Given the description of an element on the screen output the (x, y) to click on. 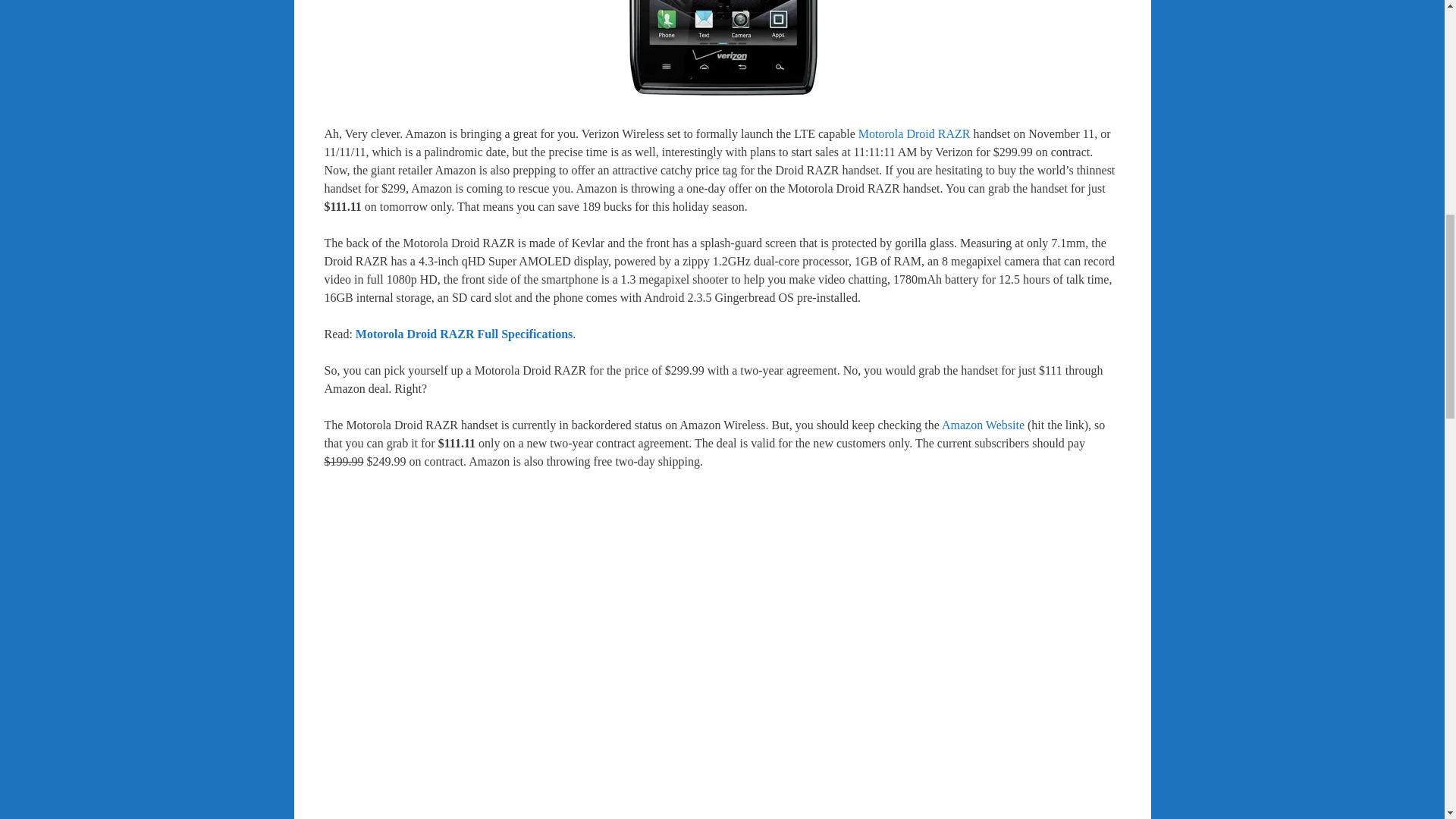
Motorola Droid RAZR (722, 50)
Motorola Droid RAZR Full Specifications (464, 333)
Scroll back to top (1406, 720)
Motorola Droid RAZR (915, 133)
Amazon Website (983, 424)
Motorola Droid RAZR At Gadgetian.com (915, 133)
